Given the description of an element on the screen output the (x, y) to click on. 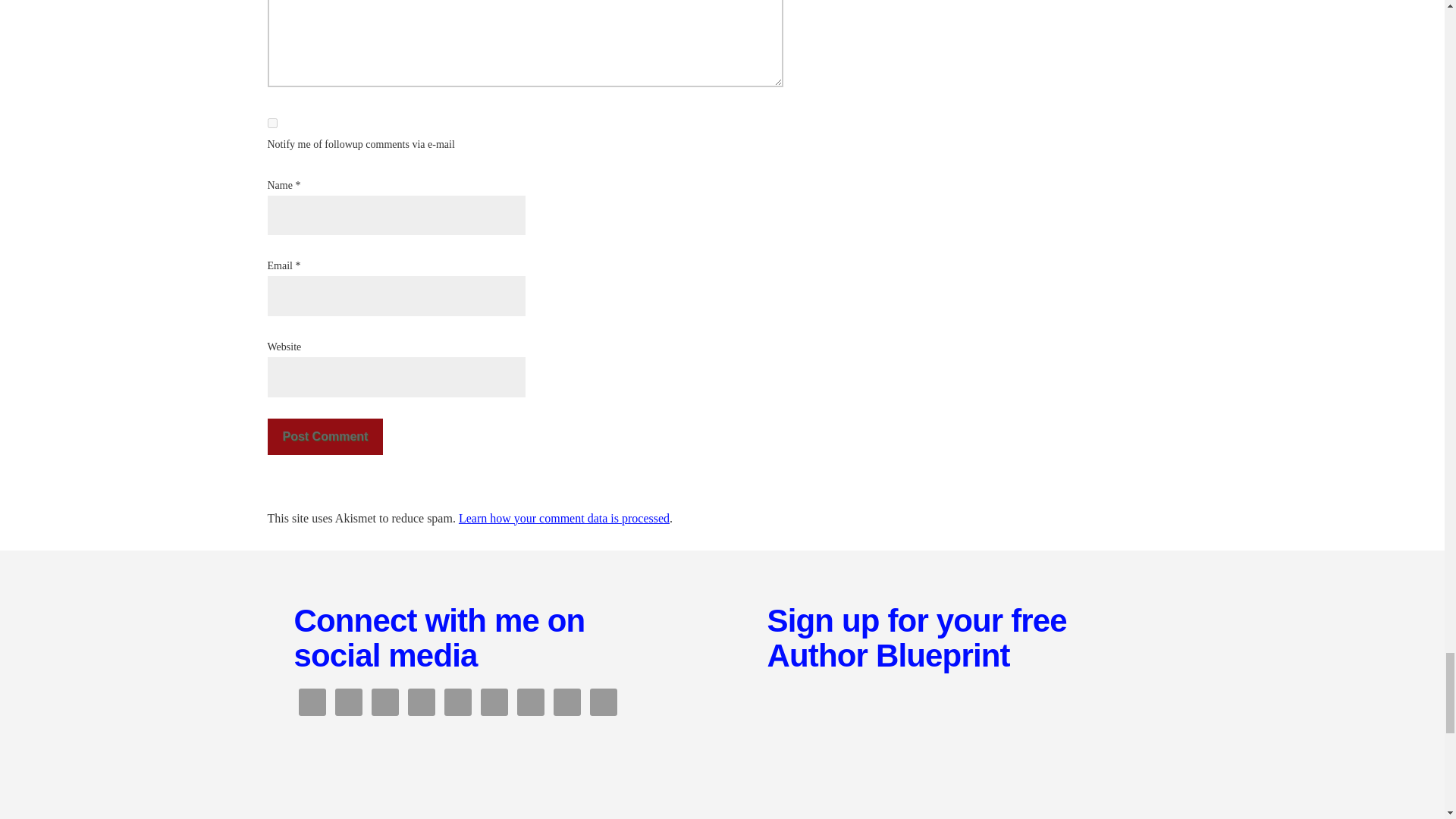
subscribe (271, 122)
Post Comment (324, 436)
